Given the description of an element on the screen output the (x, y) to click on. 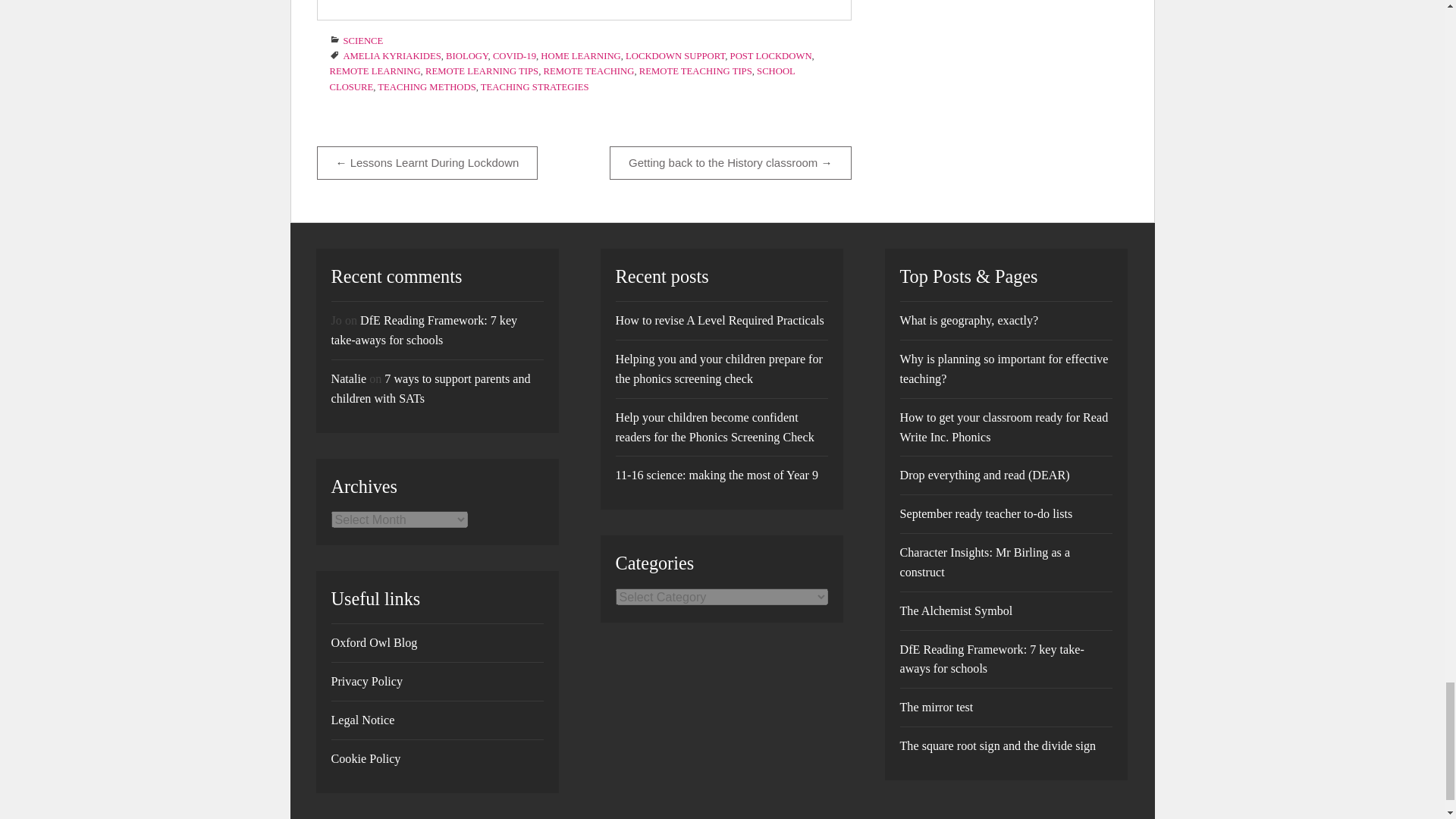
COVID-19 (514, 55)
SCIENCE (362, 40)
BIOLOGY (466, 55)
HOME LEARNING (580, 55)
AMELIA KYRIAKIDES (391, 55)
